Given the description of an element on the screen output the (x, y) to click on. 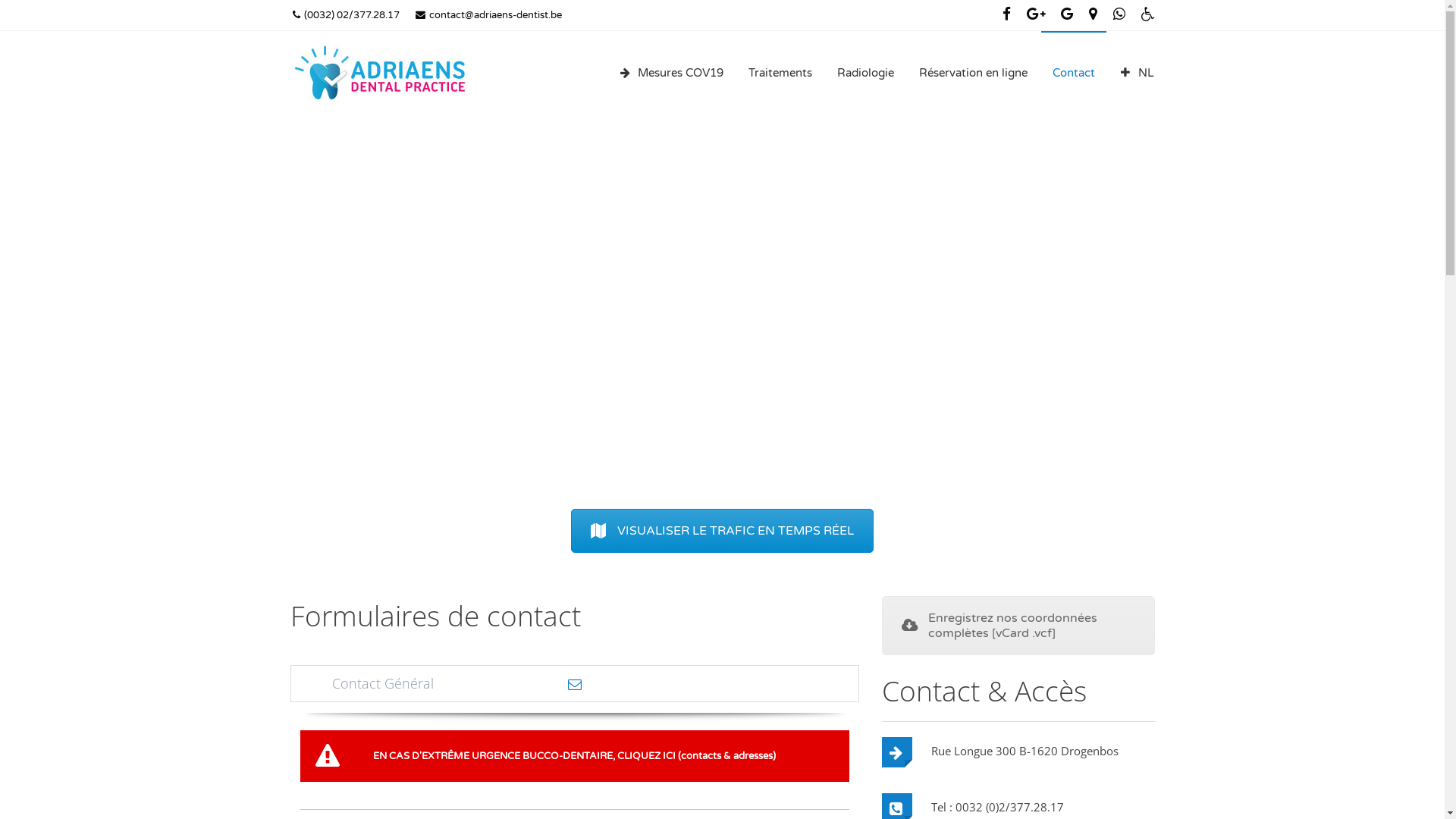
contact@adriaens-dentist.be Element type: text (488, 15)
(0032) 02/377.28.17 Element type: text (345, 15)
NL Element type: text (1136, 72)
Mesures COV19 Element type: text (671, 72)
Traitements Element type: text (780, 72)
Rue Longue 300 B-1620 Drogenbos Element type: text (1024, 754)
Contact Element type: text (1072, 72)
Tel : 0032 (0)2/377.28.17 Element type: text (997, 810)
Radiologie Element type: text (864, 72)
